Given the description of an element on the screen output the (x, y) to click on. 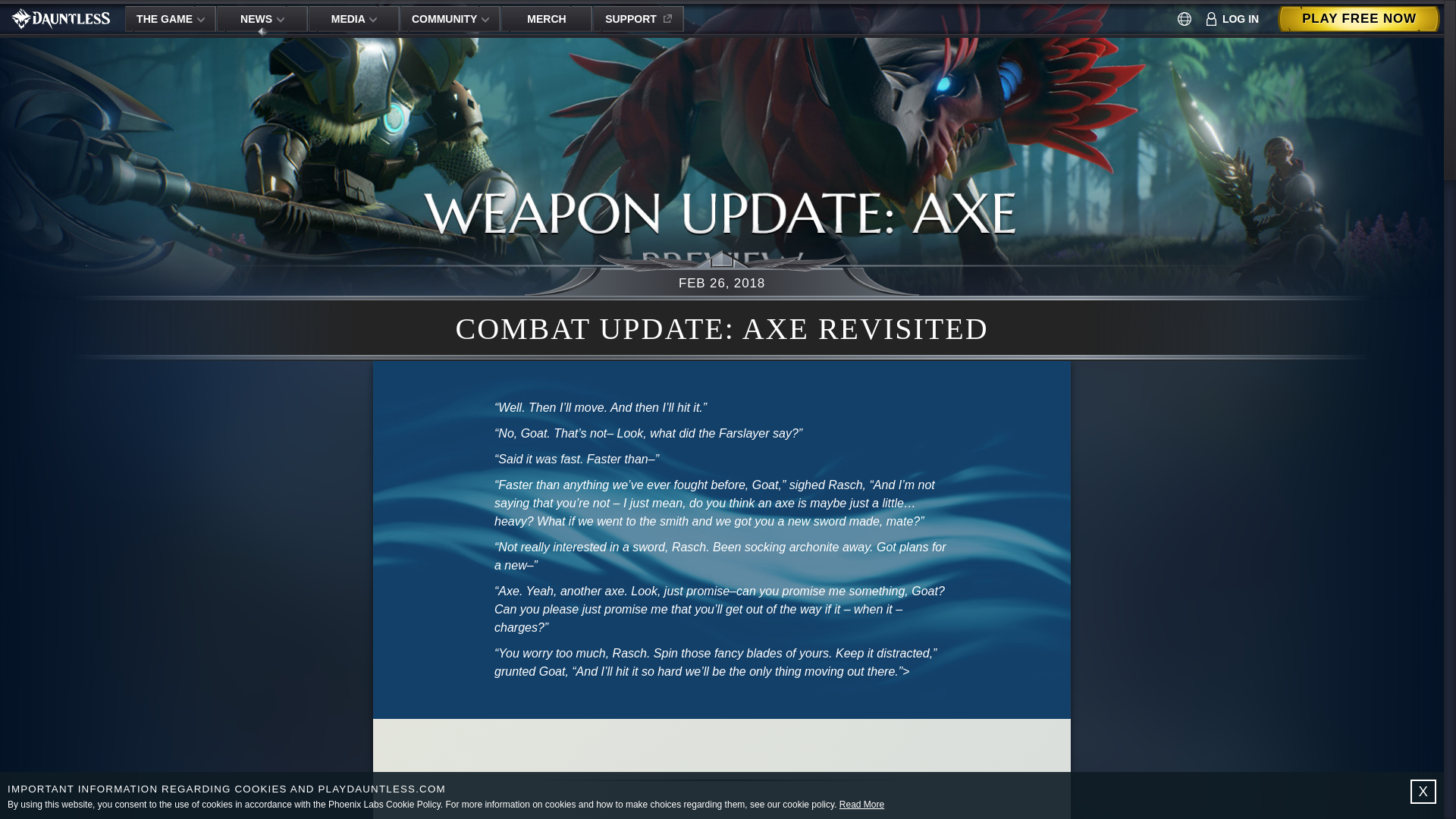
COMMUNITY (450, 18)
MERCH (546, 18)
LOG IN (1233, 18)
NEWS (261, 18)
MEDIA (353, 18)
THE GAME (170, 18)
PLAY FREE NOW (1358, 18)
SUPPORT (638, 18)
